Given the description of an element on the screen output the (x, y) to click on. 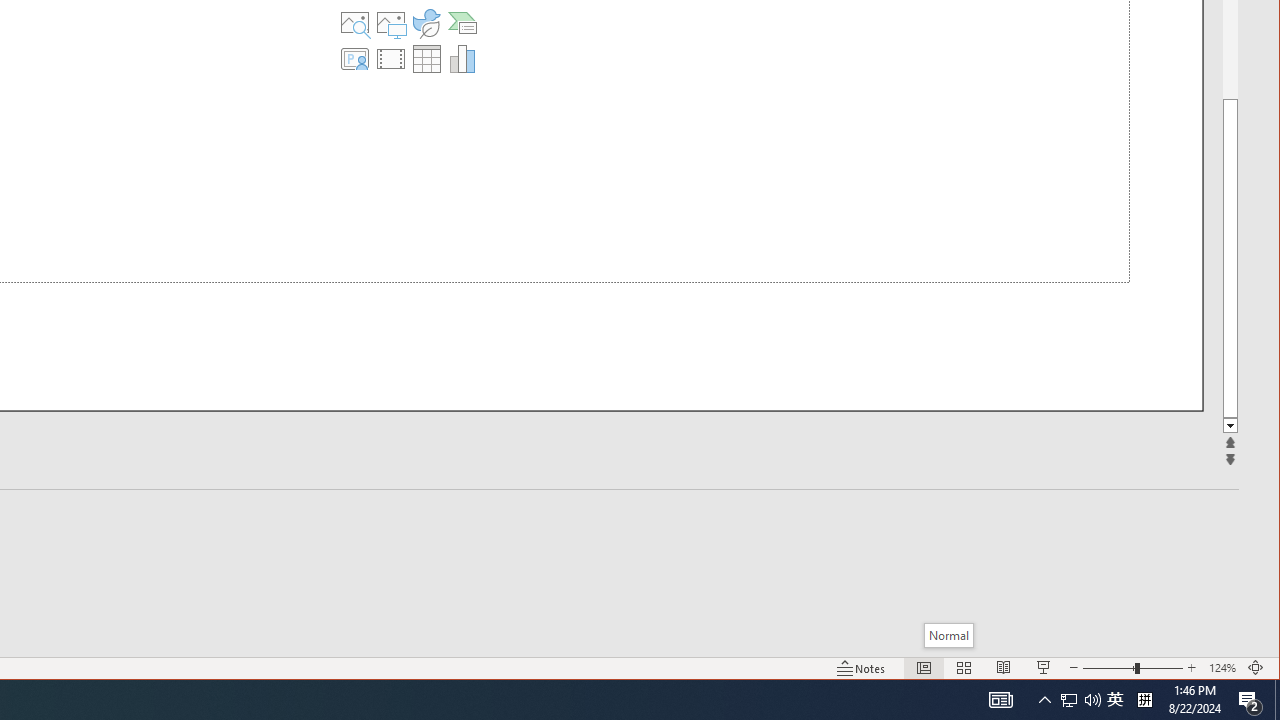
Insert Chart (462, 58)
Insert Cameo (355, 58)
Insert an Icon (426, 22)
Action Center, 2 new notifications (1250, 699)
